Given the description of an element on the screen output the (x, y) to click on. 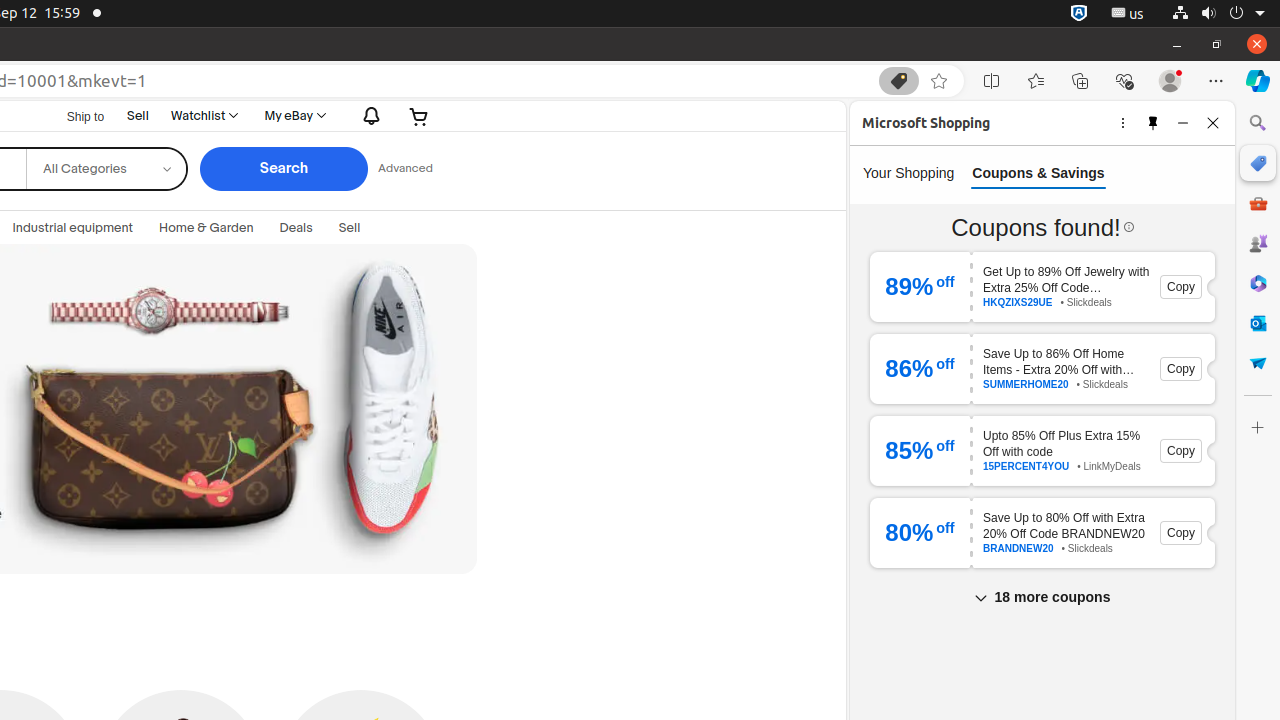
 18 more coupons of Coupons found Element type: push-button (1042, 597)
:1.21/StatusNotifierItem Element type: menu (1127, 13)
Settings and more (Alt+F) Element type: push-button (1216, 81)
Home & Garden Element type: link (206, 228)
Coupons & Savings Element type: scroll-pane (1042, 410)
